Given the description of an element on the screen output the (x, y) to click on. 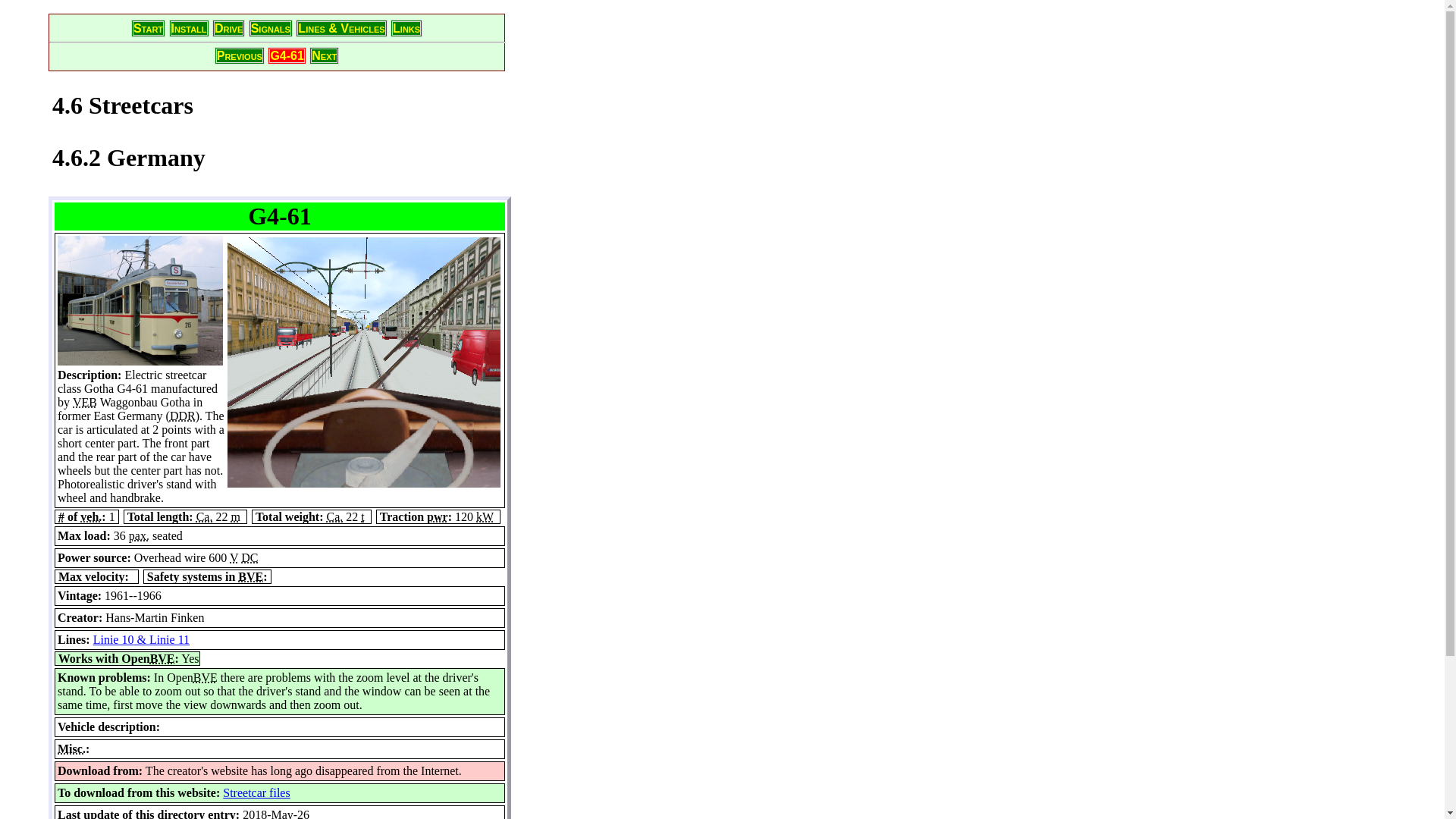
power (437, 516)
Boso View Express (204, 676)
You are at this page already! (286, 55)
passengers (139, 535)
Circa (334, 516)
kilowatt (484, 516)
vehicles (90, 516)
Streetcar files (255, 792)
Volkseigener Betrieb (84, 401)
Drive (228, 27)
direct current (249, 557)
Signals (270, 27)
Previous (239, 55)
Install (188, 27)
Links (406, 27)
